Given the description of an element on the screen output the (x, y) to click on. 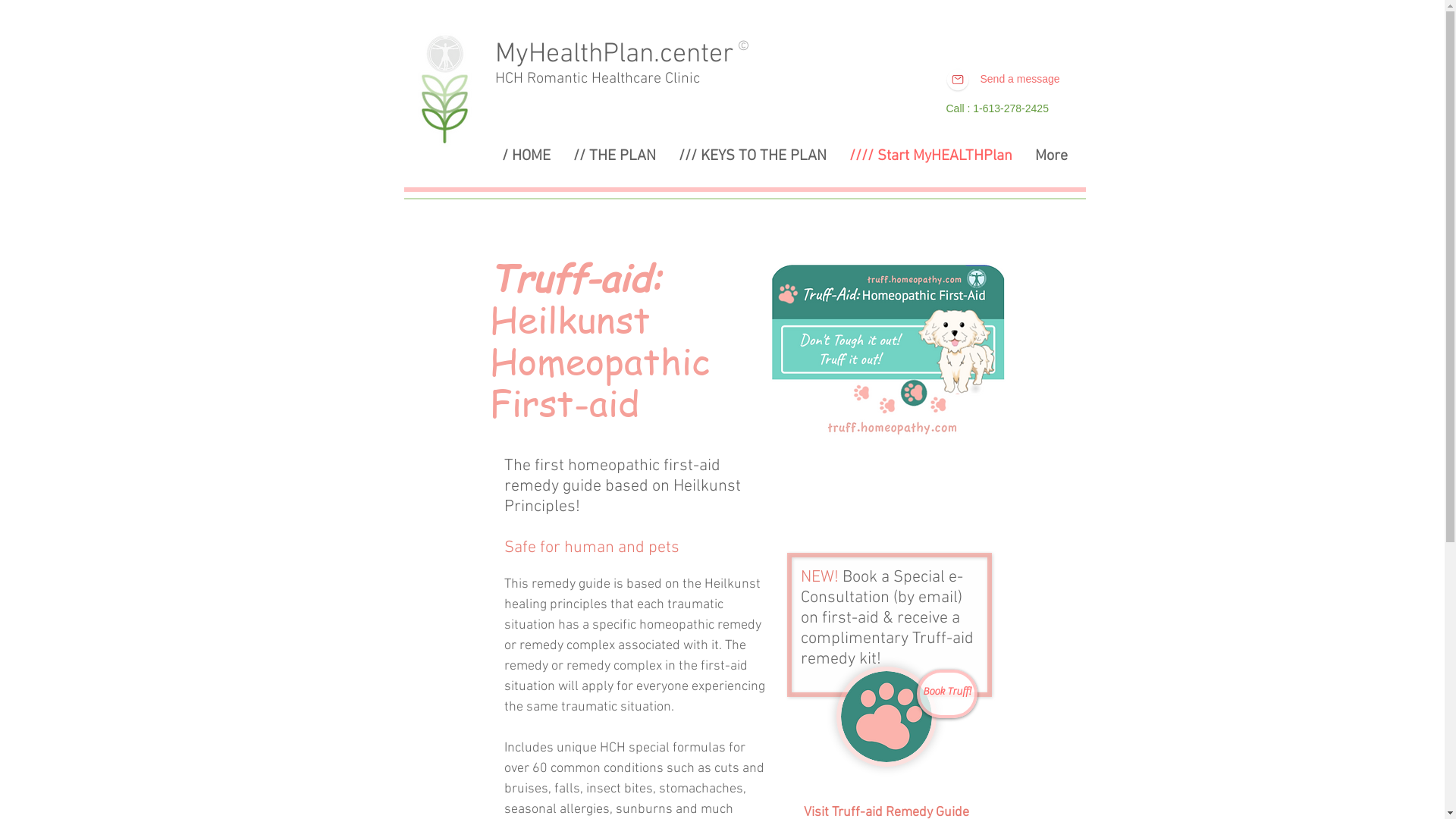
/// KEYS TO THE PLAN Element type: text (752, 154)
/ HOME Element type: text (525, 154)
// THE PLAN Element type: text (613, 154)
Book Truff! Element type: text (946, 693)
Send a message Element type: text (1019, 78)
MyHealthPlan.center Element type: text (613, 54)
//// Start MyHEALTHPlan Element type: text (929, 154)
